Given the description of an element on the screen output the (x, y) to click on. 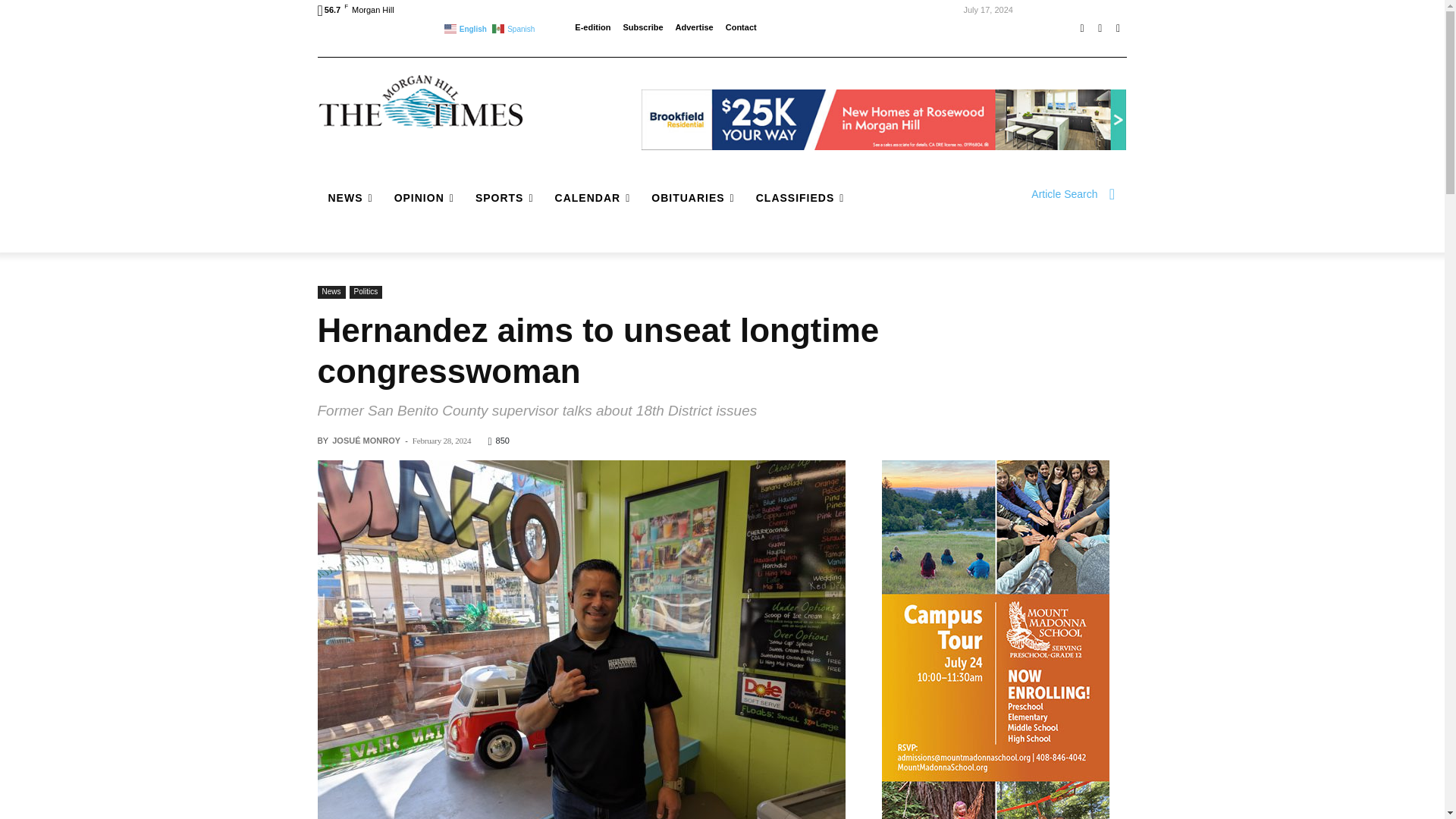
Facebook (1081, 28)
E-edition (592, 27)
Spanish (514, 27)
Twitter (1117, 28)
Subscribe (642, 27)
English (466, 27)
Instagram (1099, 28)
Contact (741, 27)
Advertise (694, 27)
